Given the description of an element on the screen output the (x, y) to click on. 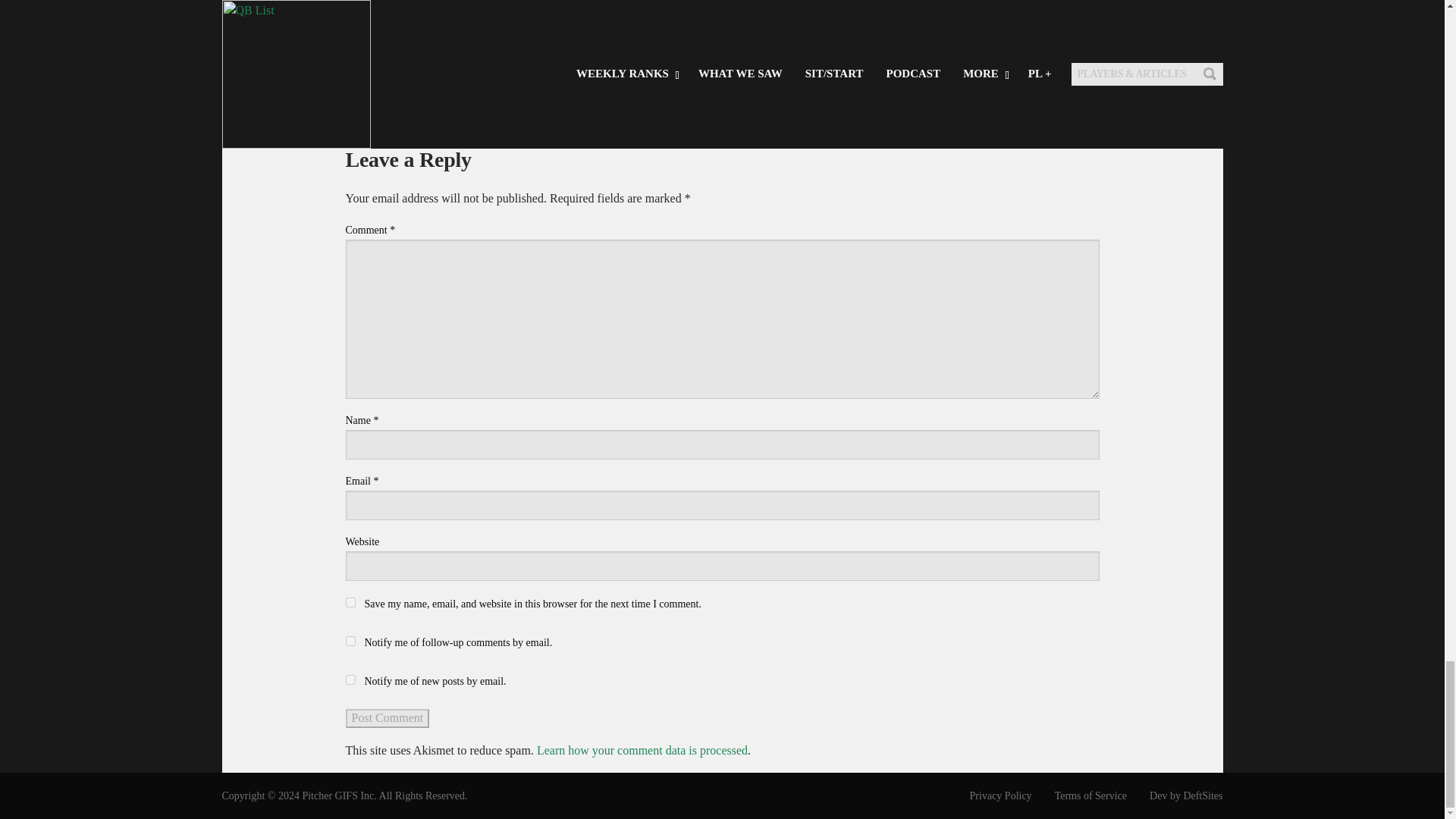
subscribe (350, 641)
Terms of Service (1079, 795)
Privacy Policy (989, 795)
subscribe (350, 679)
Learn how your comment data is processed (642, 749)
yes (350, 602)
Post Comment (387, 718)
Post Comment (387, 718)
